Given the description of an element on the screen output the (x, y) to click on. 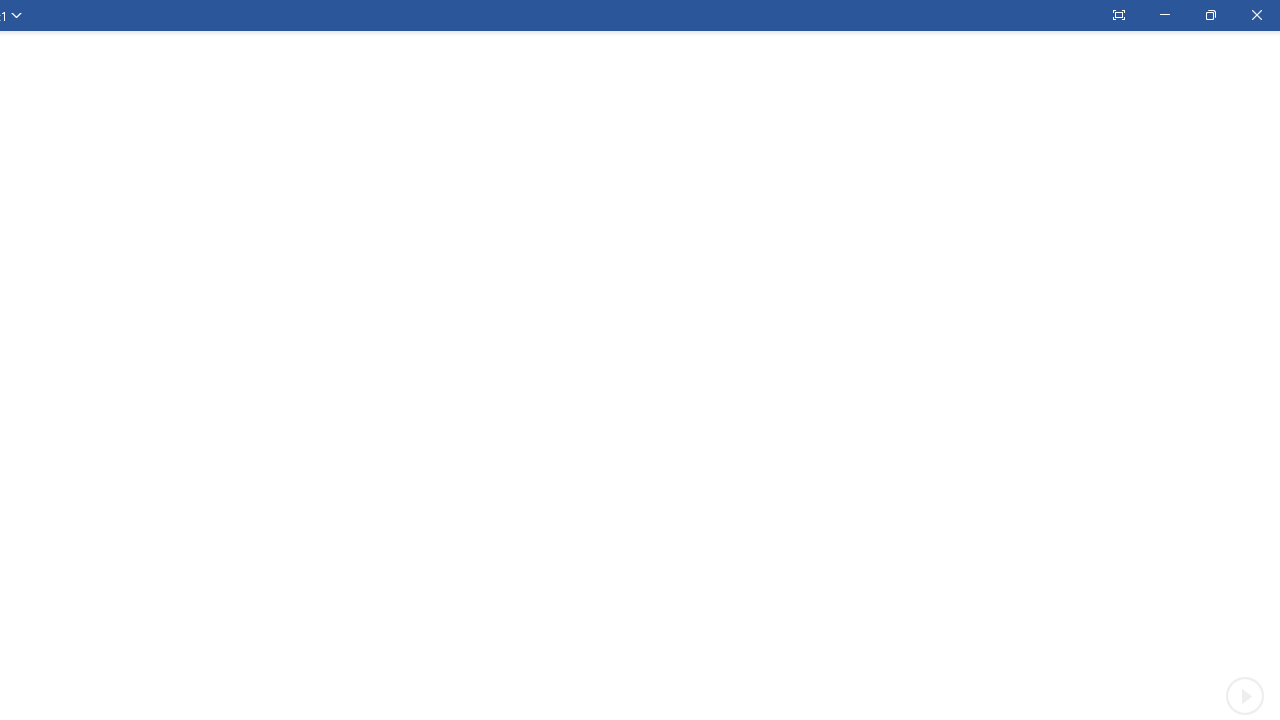
Auto-hide Reading Toolbar (1118, 15)
